Given the description of an element on the screen output the (x, y) to click on. 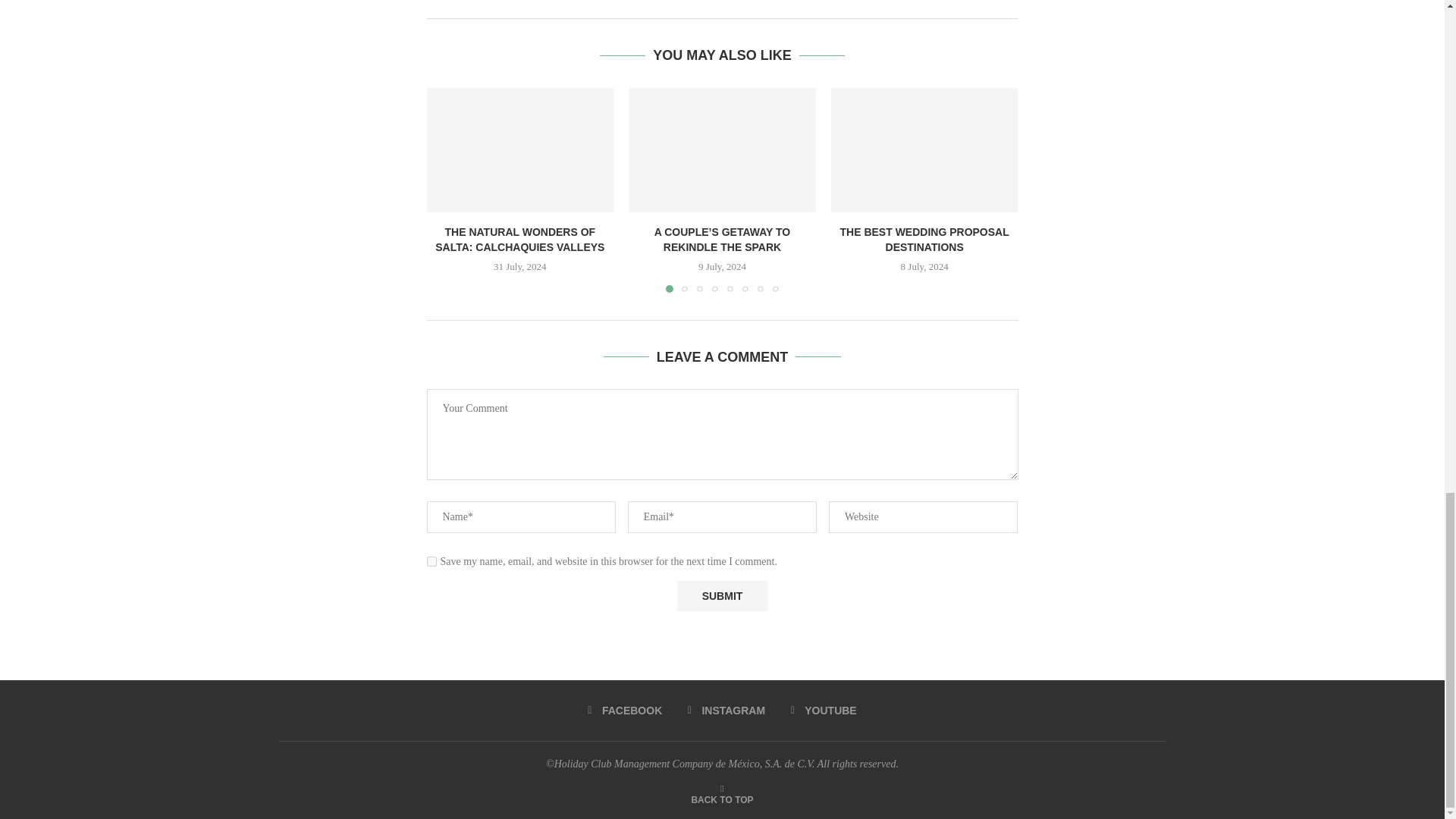
THE NATURAL WONDERS OF SALTA: CALCHAQUIES VALLEYS (519, 149)
Submit (722, 595)
THE BEST WEDDING PROPOSAL DESTINATIONS (924, 149)
yes (430, 561)
